Given the description of an element on the screen output the (x, y) to click on. 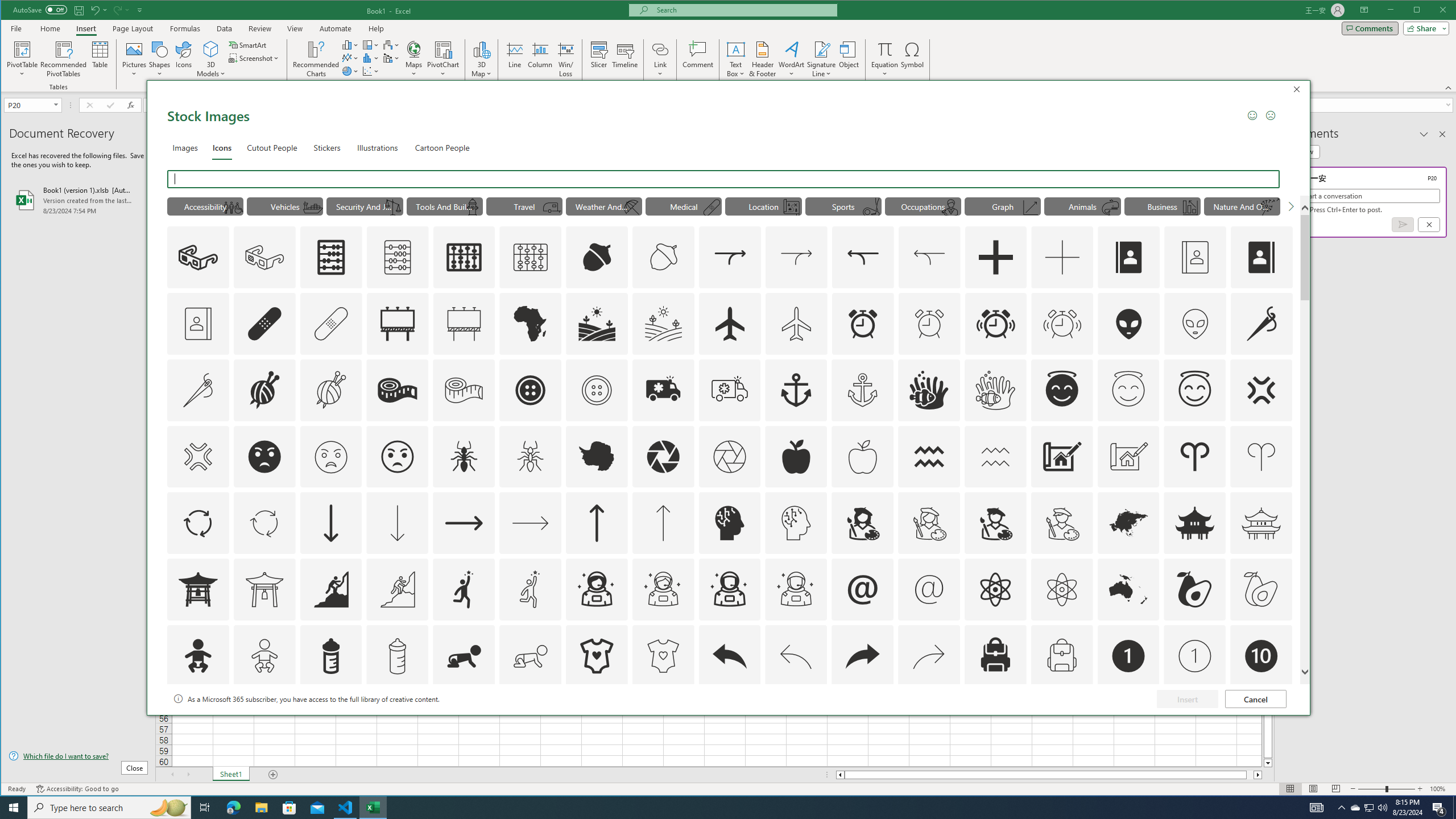
Slicer... (598, 59)
AutomationID: Icons_Anchor (796, 389)
AutomationID: Icons_AngryFace (264, 456)
AutomationID: Icons_Baby (197, 655)
AutomationID: Icons_ArrowDown (330, 522)
AutomationID: Icons_Antarctica (596, 456)
AutomationID: Icons_AsianTemple (1194, 522)
Equation (884, 59)
AutomationID: Icons_Abacus1 (464, 256)
Link (659, 48)
